Given the description of an element on the screen output the (x, y) to click on. 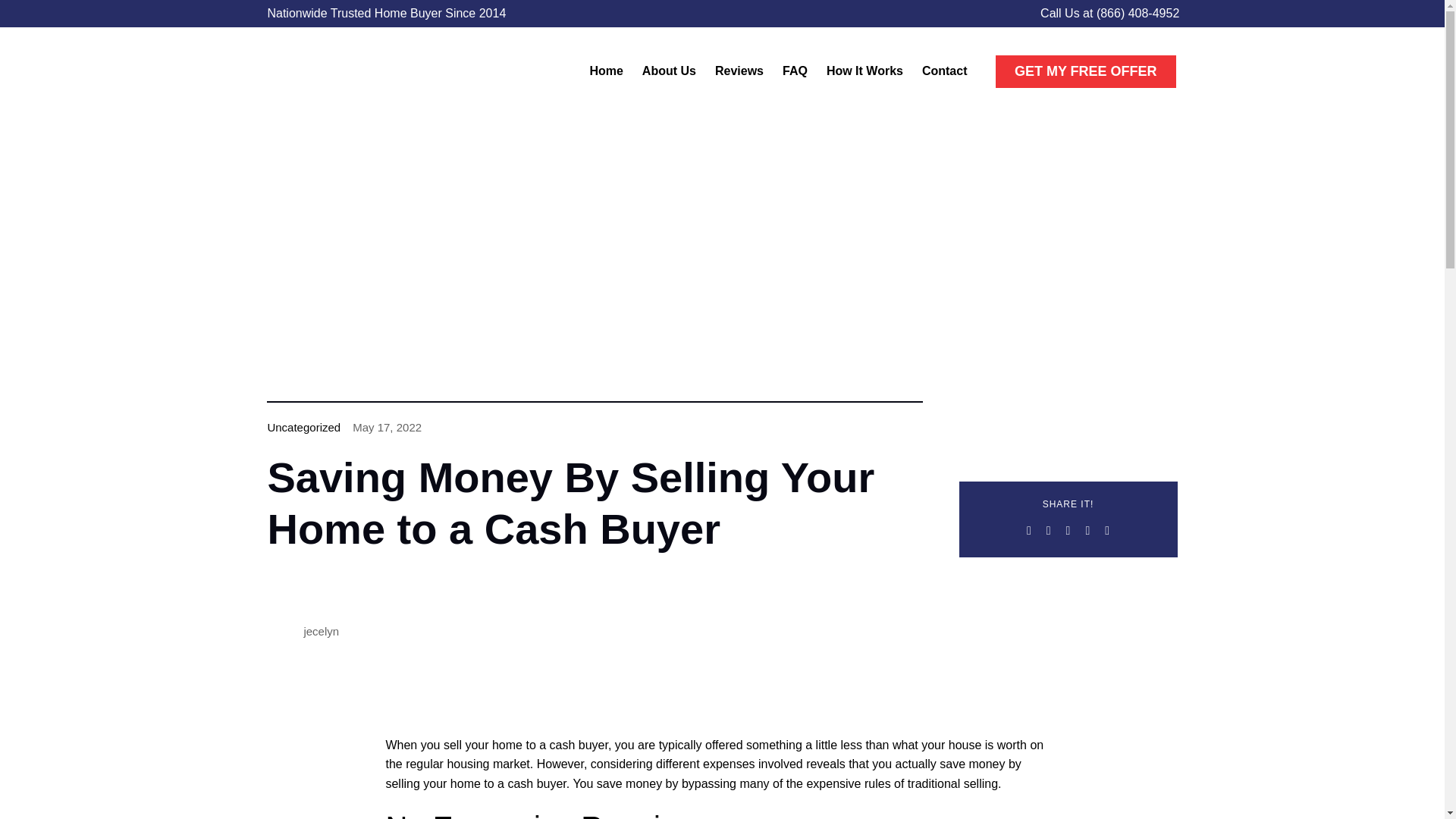
Uncategorized (303, 427)
Reddit (1068, 530)
X (1048, 530)
GET MY FREE OFFER (1085, 70)
How It Works (864, 71)
LinkedIn (1087, 530)
Pinterest (1106, 530)
Contact (944, 71)
Facebook (1029, 530)
About Us (668, 71)
Reviews (738, 71)
Uncategorized (303, 427)
